Given the description of an element on the screen output the (x, y) to click on. 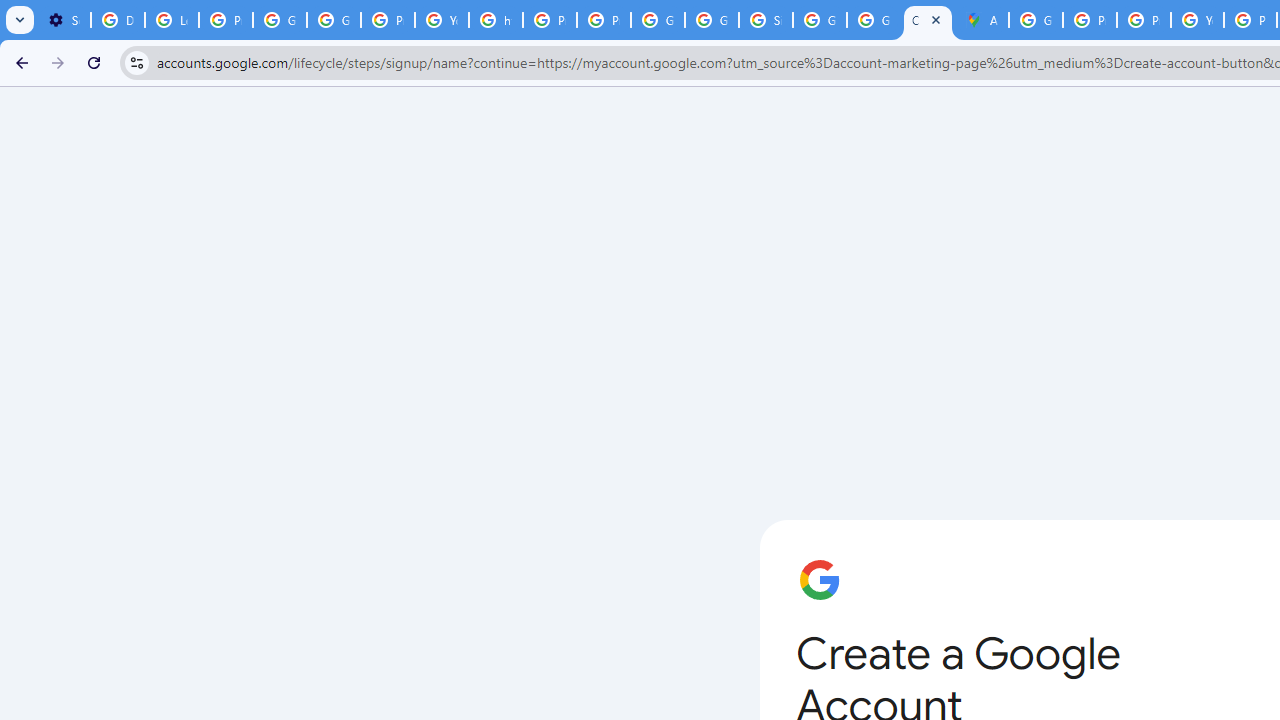
Privacy Help Center - Policies Help (1089, 20)
Delete photos & videos - Computer - Google Photos Help (117, 20)
Privacy Help Center - Policies Help (550, 20)
Create your Google Account (927, 20)
Settings - Performance (63, 20)
